Given the description of an element on the screen output the (x, y) to click on. 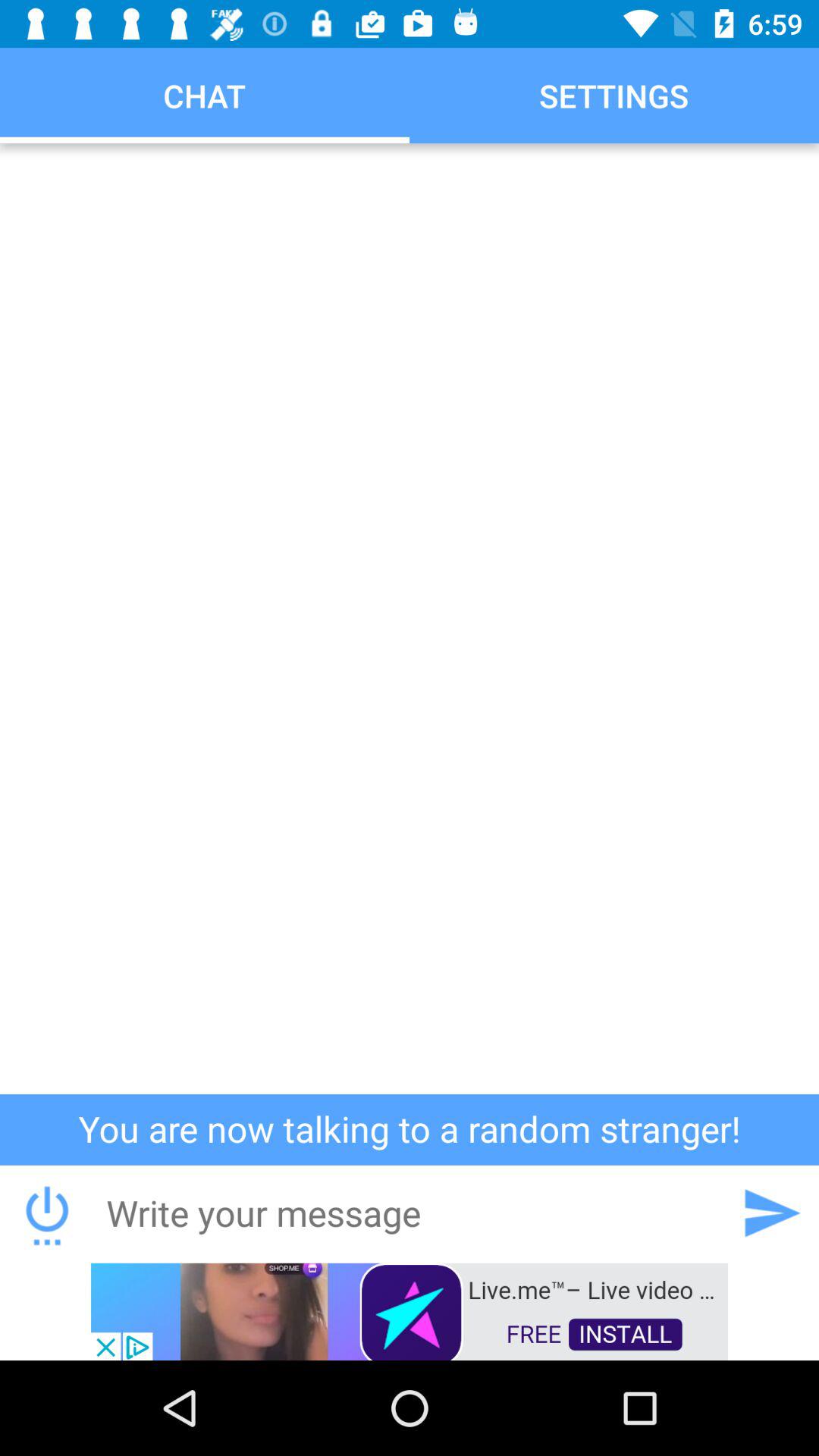
click on empty box (409, 618)
